Given the description of an element on the screen output the (x, y) to click on. 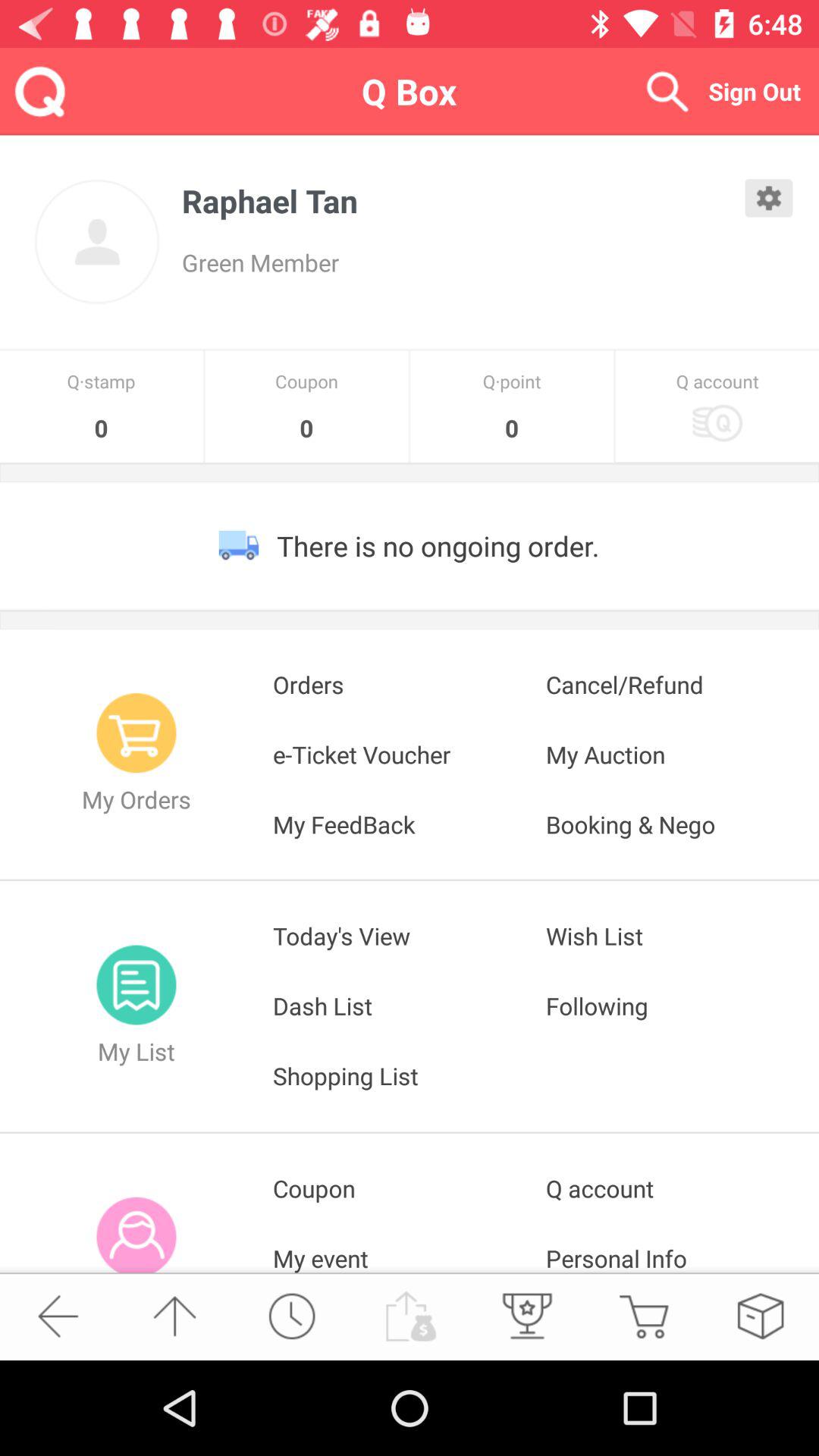
in the right corner there will be a shopping cart click on the icon next to it that will be a box (760, 1316)
